Given the description of an element on the screen output the (x, y) to click on. 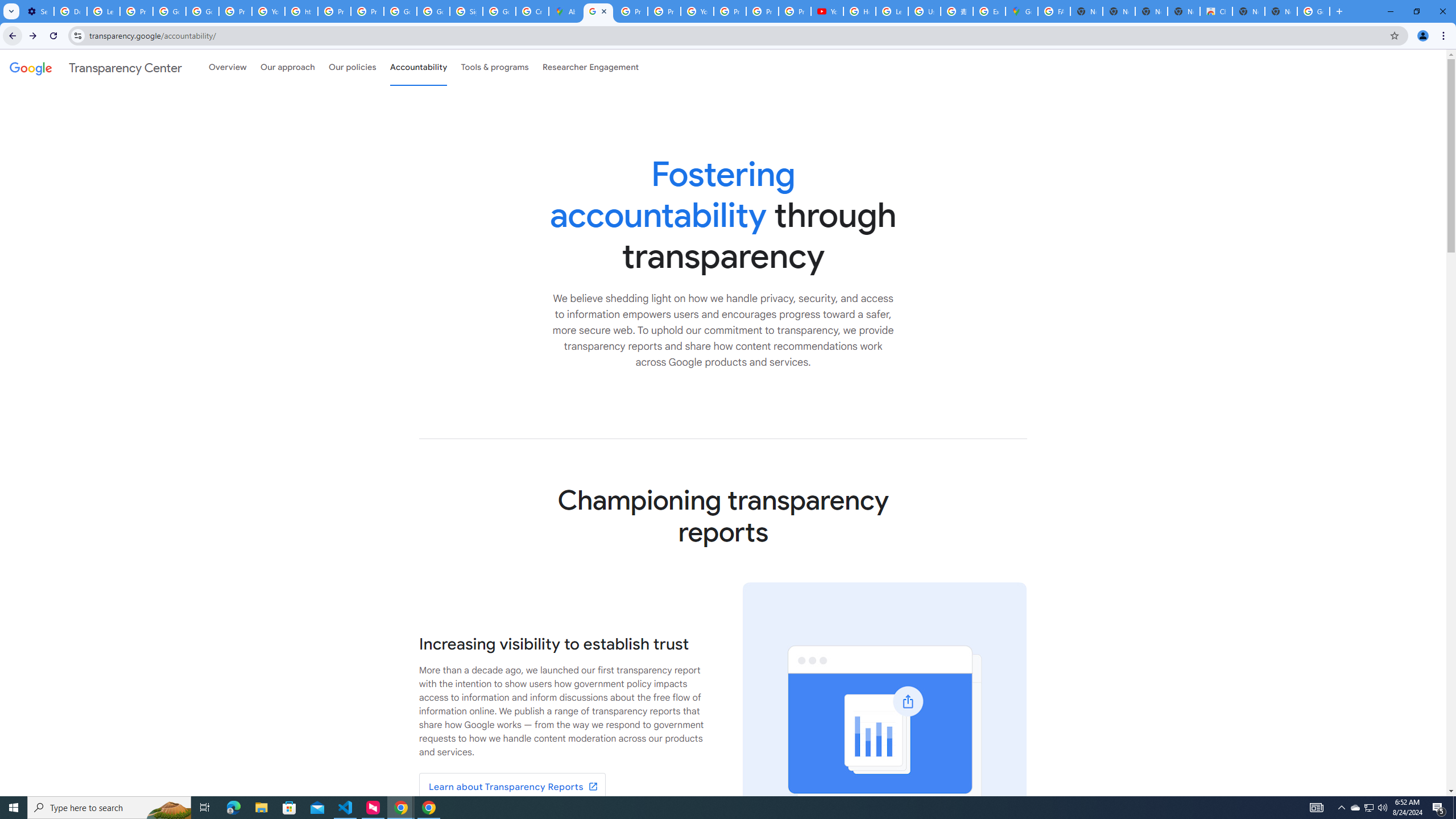
Researcher Engagement (590, 67)
Our policies (351, 67)
Go to Transparency Report About web page (512, 786)
YouTube (697, 11)
Delete photos & videos - Computer - Google Photos Help (70, 11)
Privacy Checkup (794, 11)
